Given the description of an element on the screen output the (x, y) to click on. 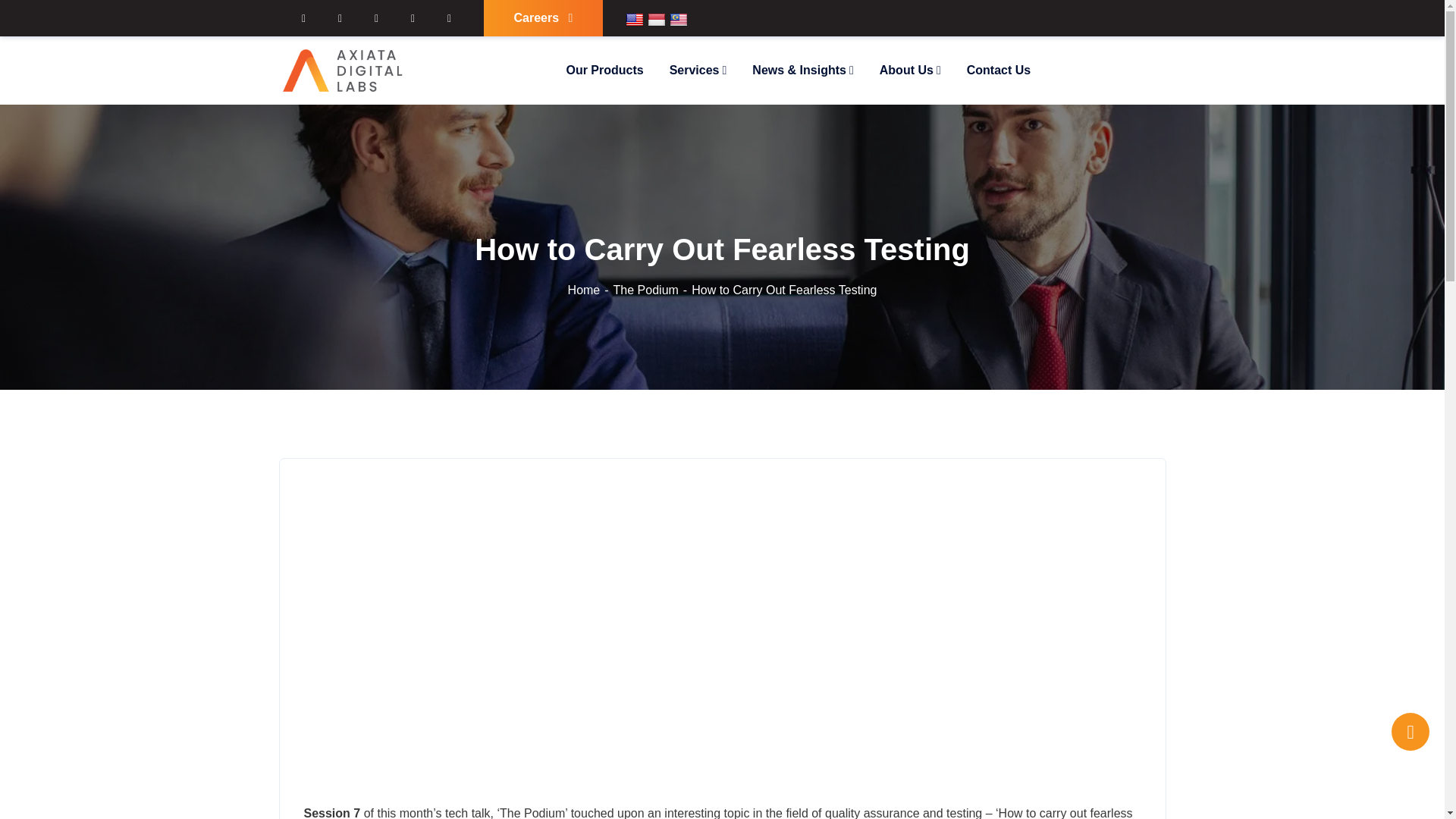
Contact Us (998, 70)
Fearless Testing (721, 623)
English (634, 19)
Services (697, 70)
Home (589, 289)
Careers (543, 18)
Our Products (604, 70)
About Us (909, 70)
Malay (678, 19)
Axiata Digital Labs - Advancing Digital Labs (344, 69)
Indonesian (656, 19)
